Given the description of an element on the screen output the (x, y) to click on. 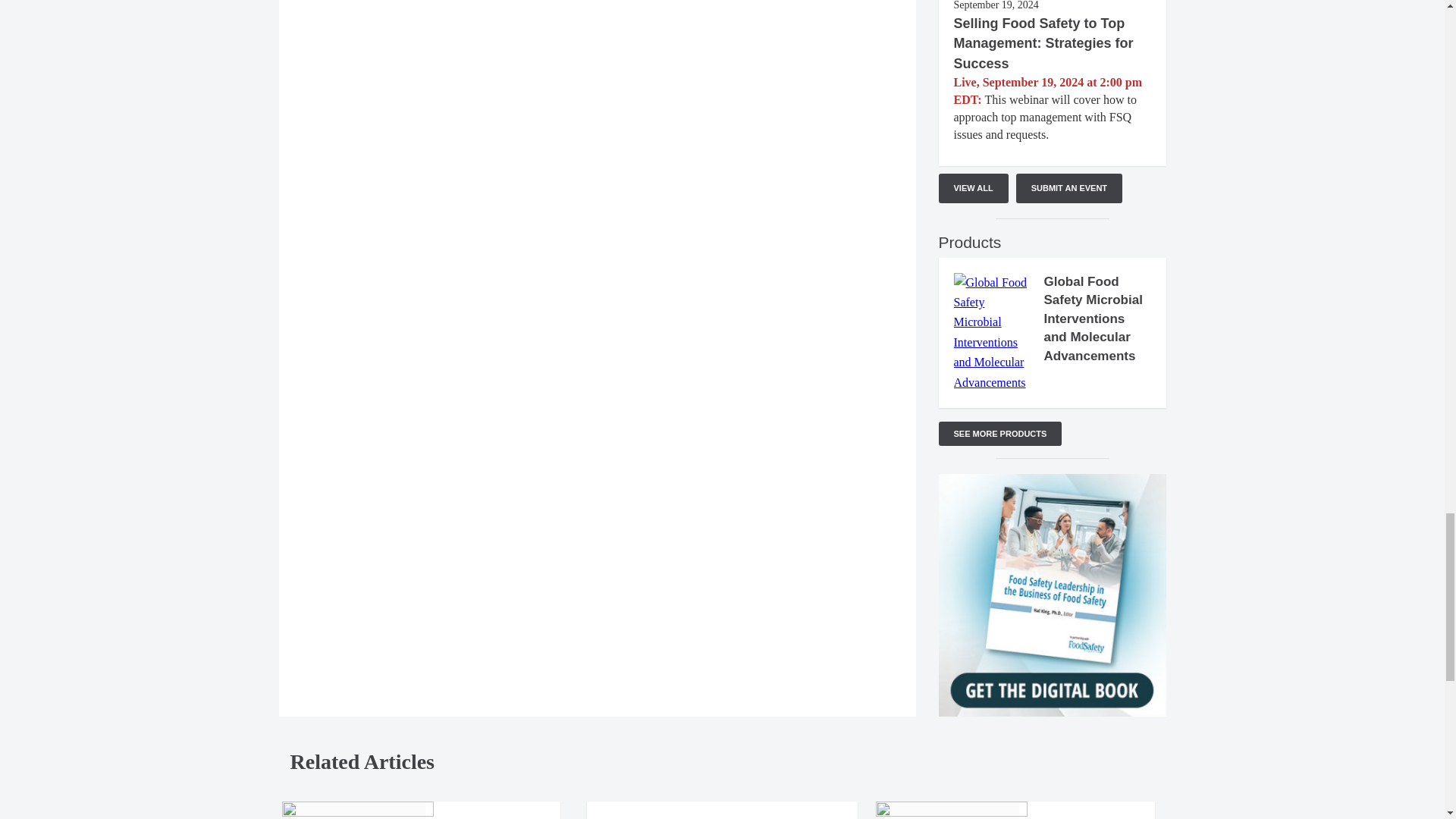
813VideoJet.jpg (357, 810)
grocery store-123rf.jpg (951, 810)
